Given the description of an element on the screen output the (x, y) to click on. 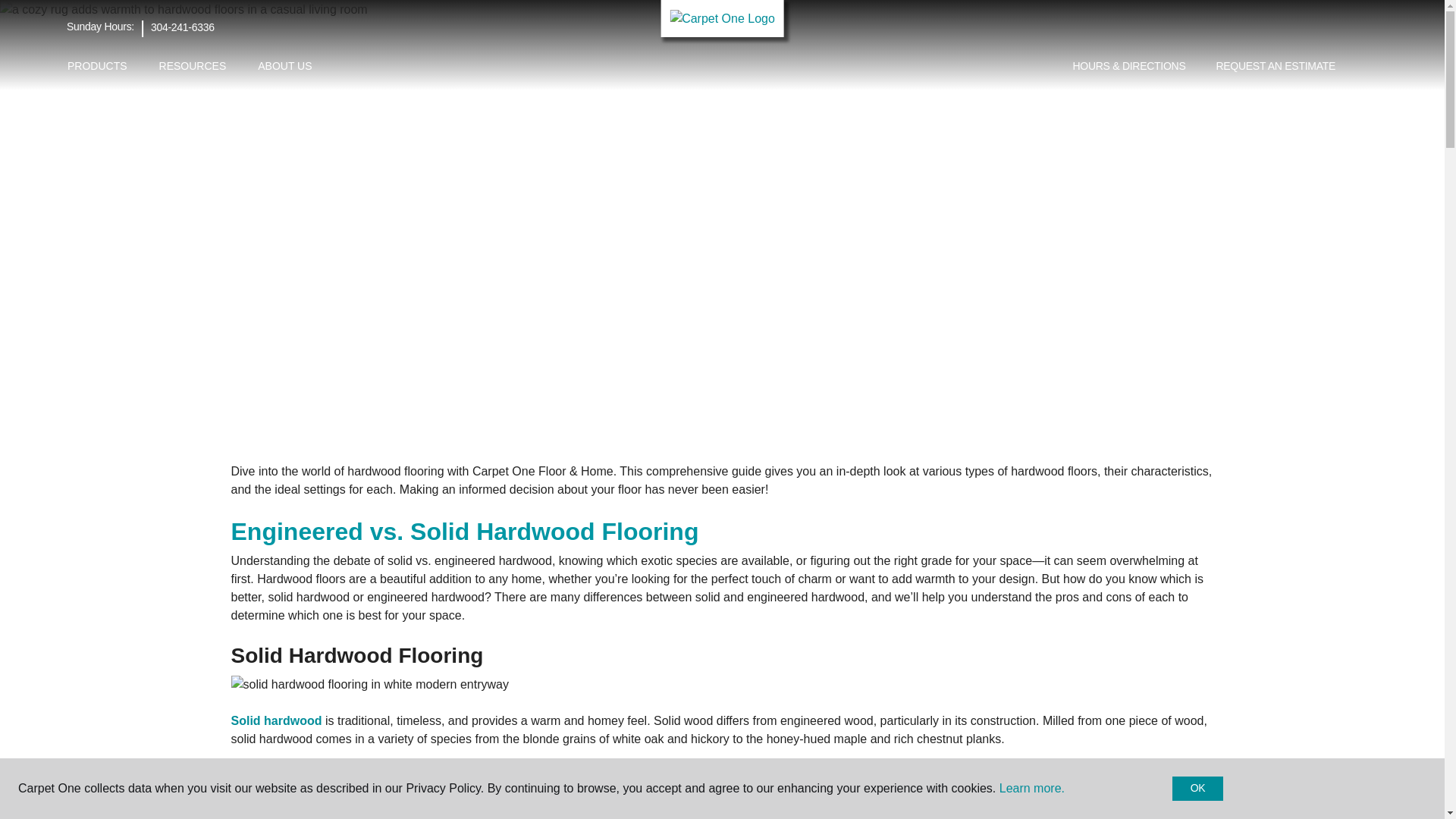
PRODUCTS (97, 66)
304-241-6336 (182, 27)
REQUEST AN ESTIMATE (1276, 66)
ABOUT US (284, 66)
RESOURCES (193, 66)
